Given the description of an element on the screen output the (x, y) to click on. 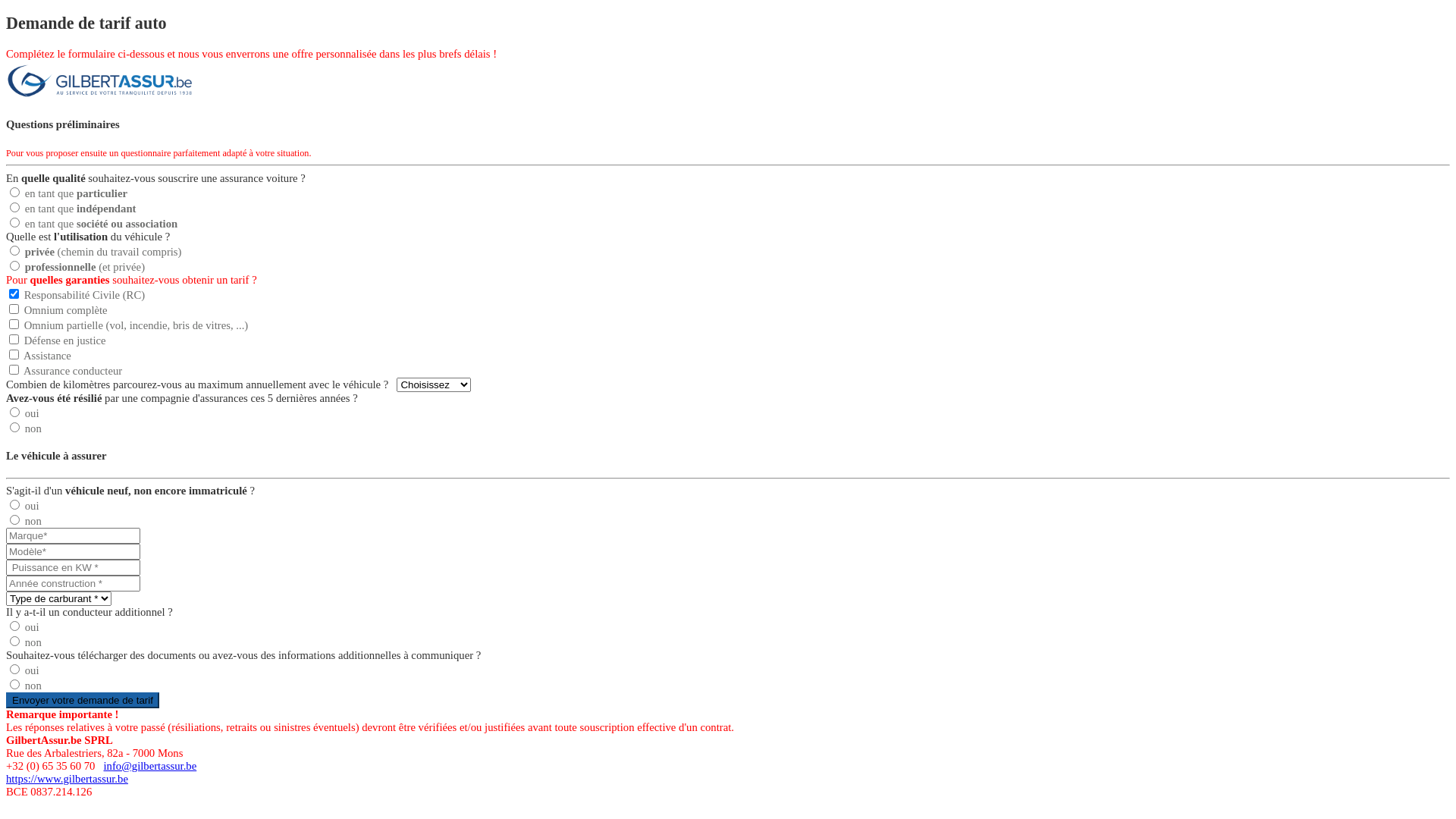
info@gilbertassur.be Element type: text (150, 765)
on Element type: text (13, 293)
Envoyer votre demande de tarif Element type: text (82, 700)
https://www.gilbertassur.be Element type: text (67, 778)
